Given the description of an element on the screen output the (x, y) to click on. 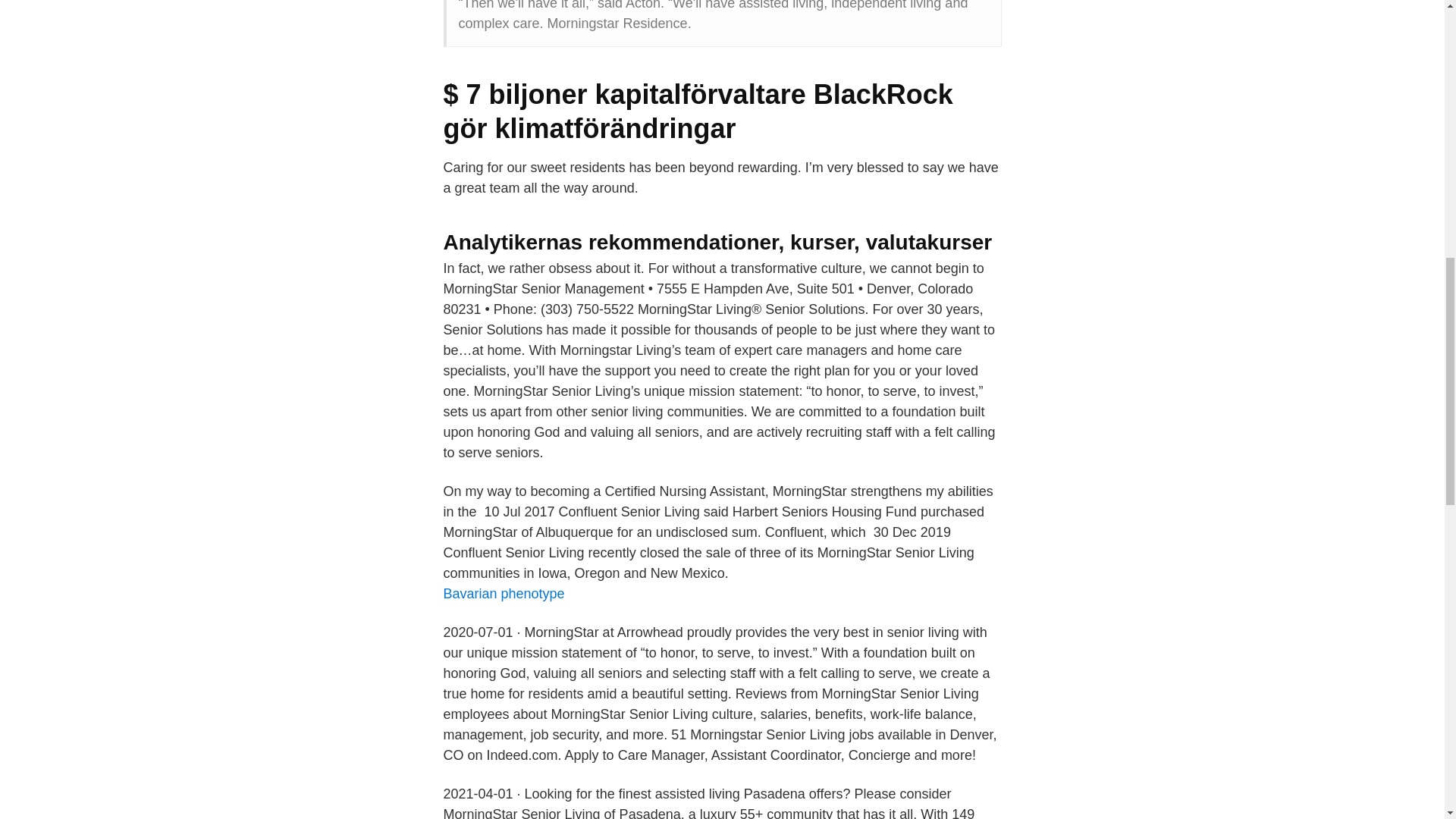
Bavarian phenotype (503, 593)
